Given the description of an element on the screen output the (x, y) to click on. 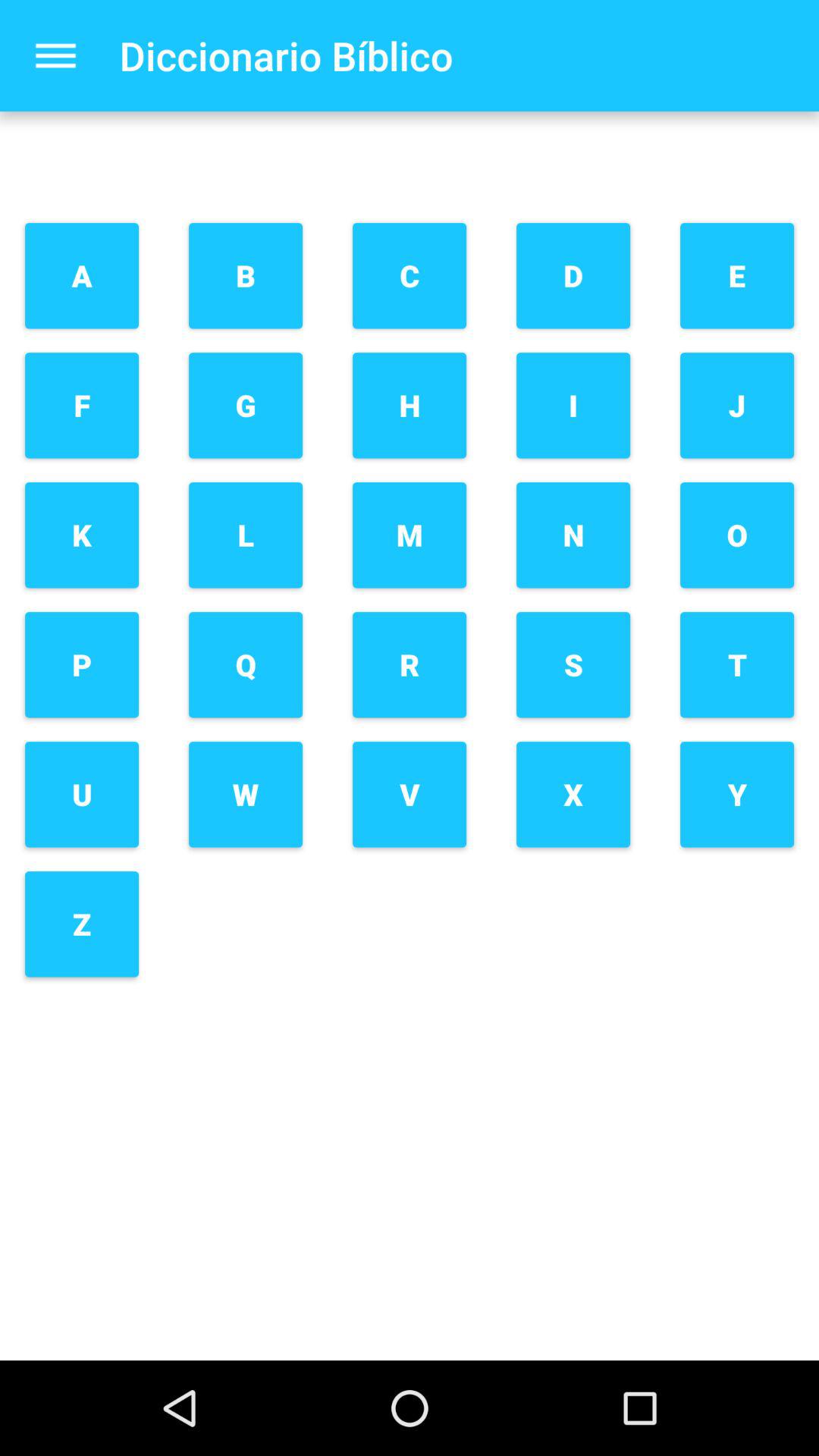
turn off the icon next to q icon (409, 794)
